Given the description of an element on the screen output the (x, y) to click on. 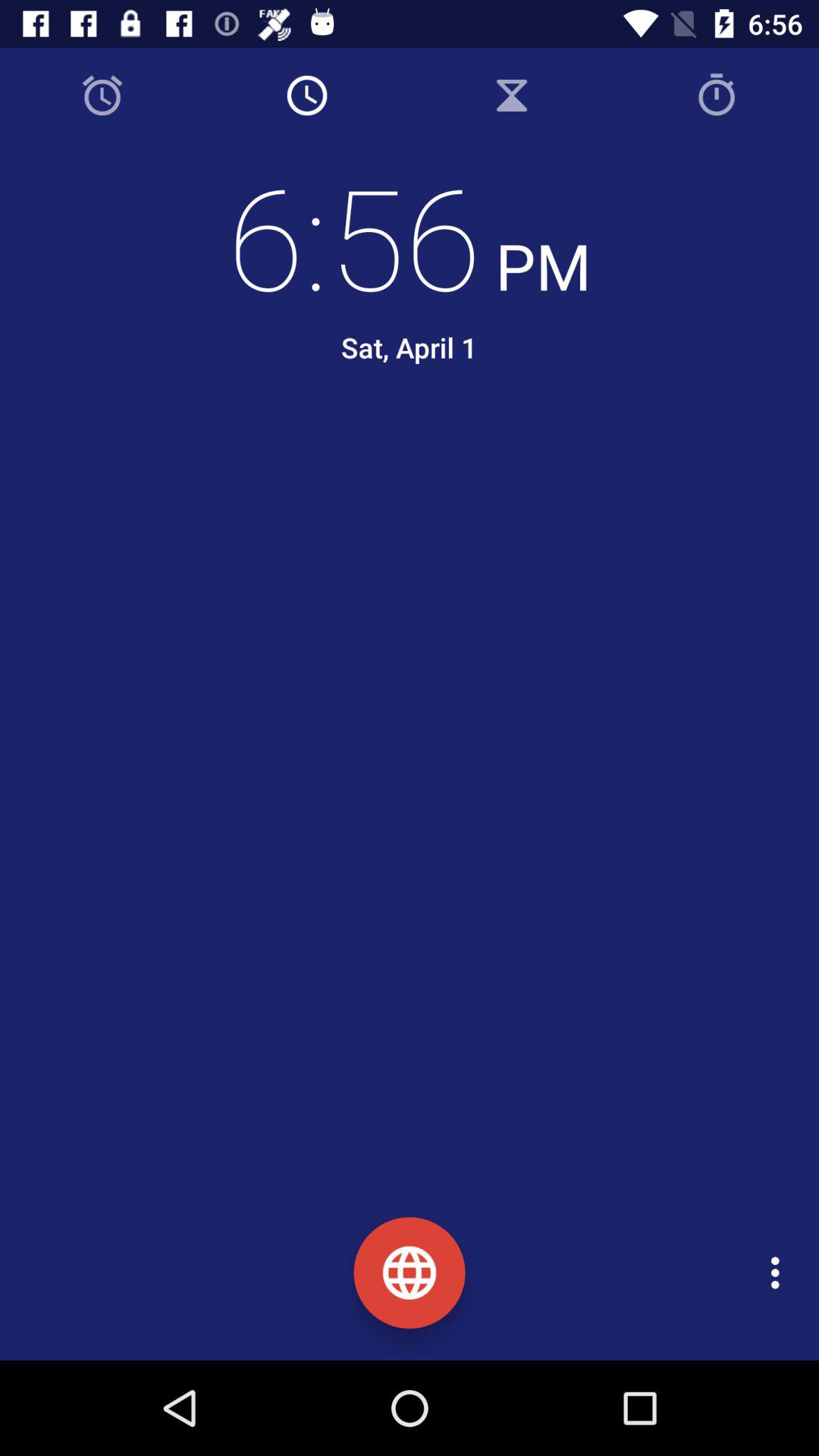
open icon above the sat, april 1 (409, 235)
